Given the description of an element on the screen output the (x, y) to click on. 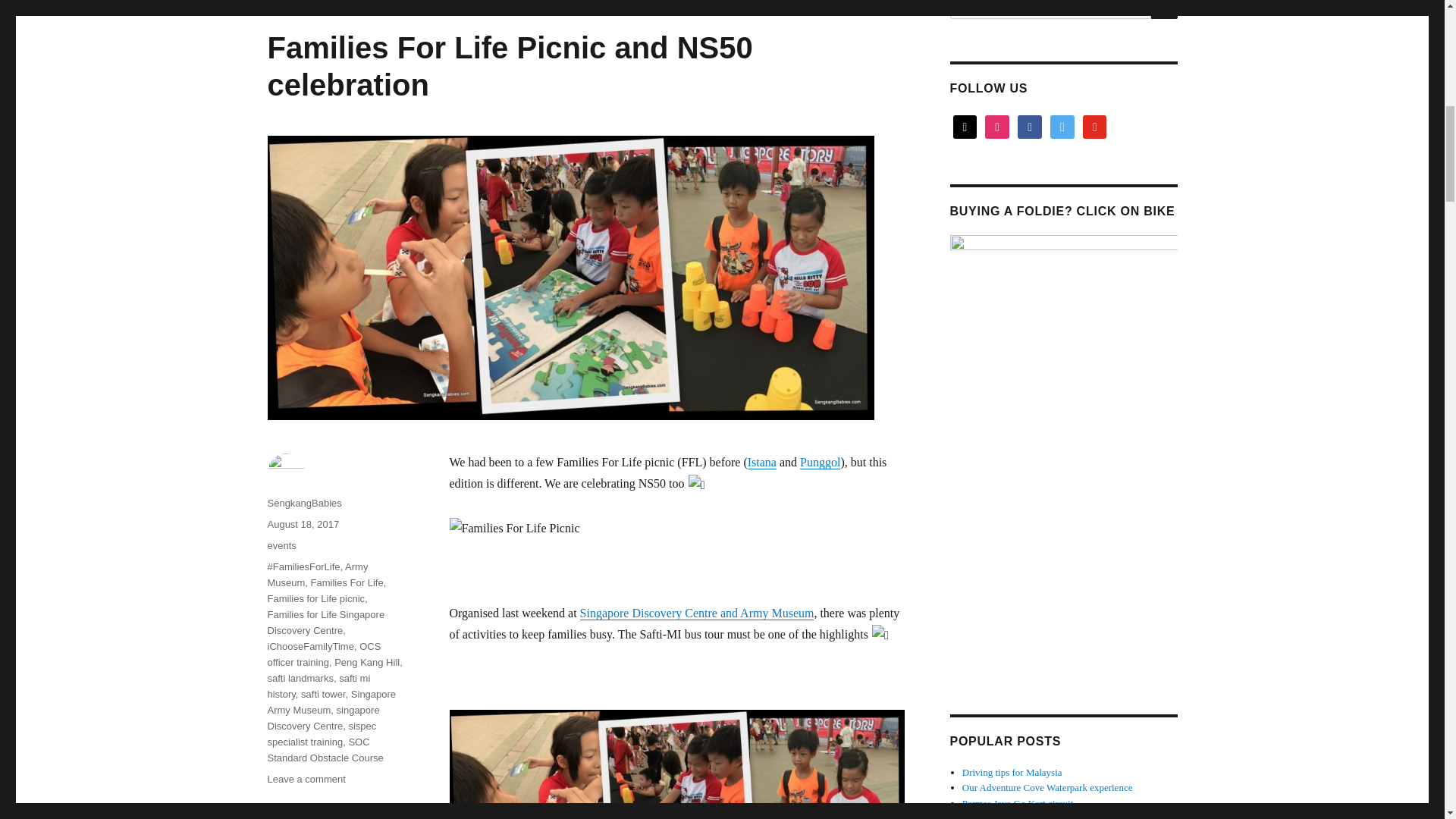
safti tower (323, 694)
Recommend Dashcam car camera (1029, 816)
events (280, 545)
safti mi history (317, 686)
sispec specialist training (320, 733)
Army Museum (317, 574)
OCS officer training (323, 654)
Default Label (1094, 125)
Families for Life Singapore Discovery Centre (325, 622)
Families For Life Picnic and NS50 celebration (509, 66)
safti landmarks (299, 677)
Istana (762, 461)
Punggol (819, 461)
Permas Jaya Go Kart circuit (1018, 803)
